Given the description of an element on the screen output the (x, y) to click on. 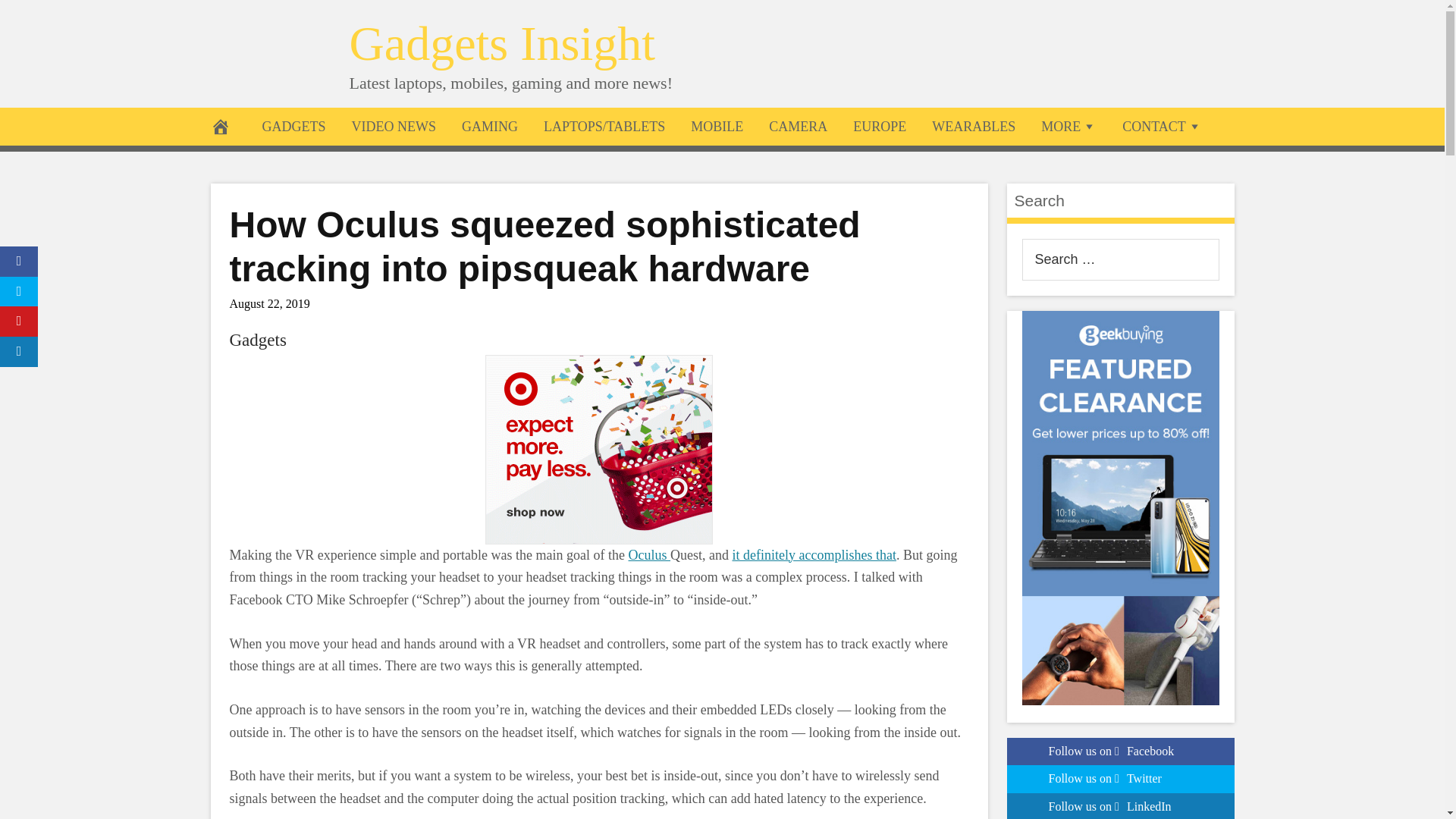
MORE (1068, 126)
MOBILE (716, 126)
EUROPE (879, 126)
GAMING (489, 126)
Gadgets Insight (502, 43)
Gadgets (256, 339)
GADGETS (292, 126)
VIDEO NEWS (392, 126)
CAMERA (797, 126)
WEARABLES (972, 126)
